Given the description of an element on the screen output the (x, y) to click on. 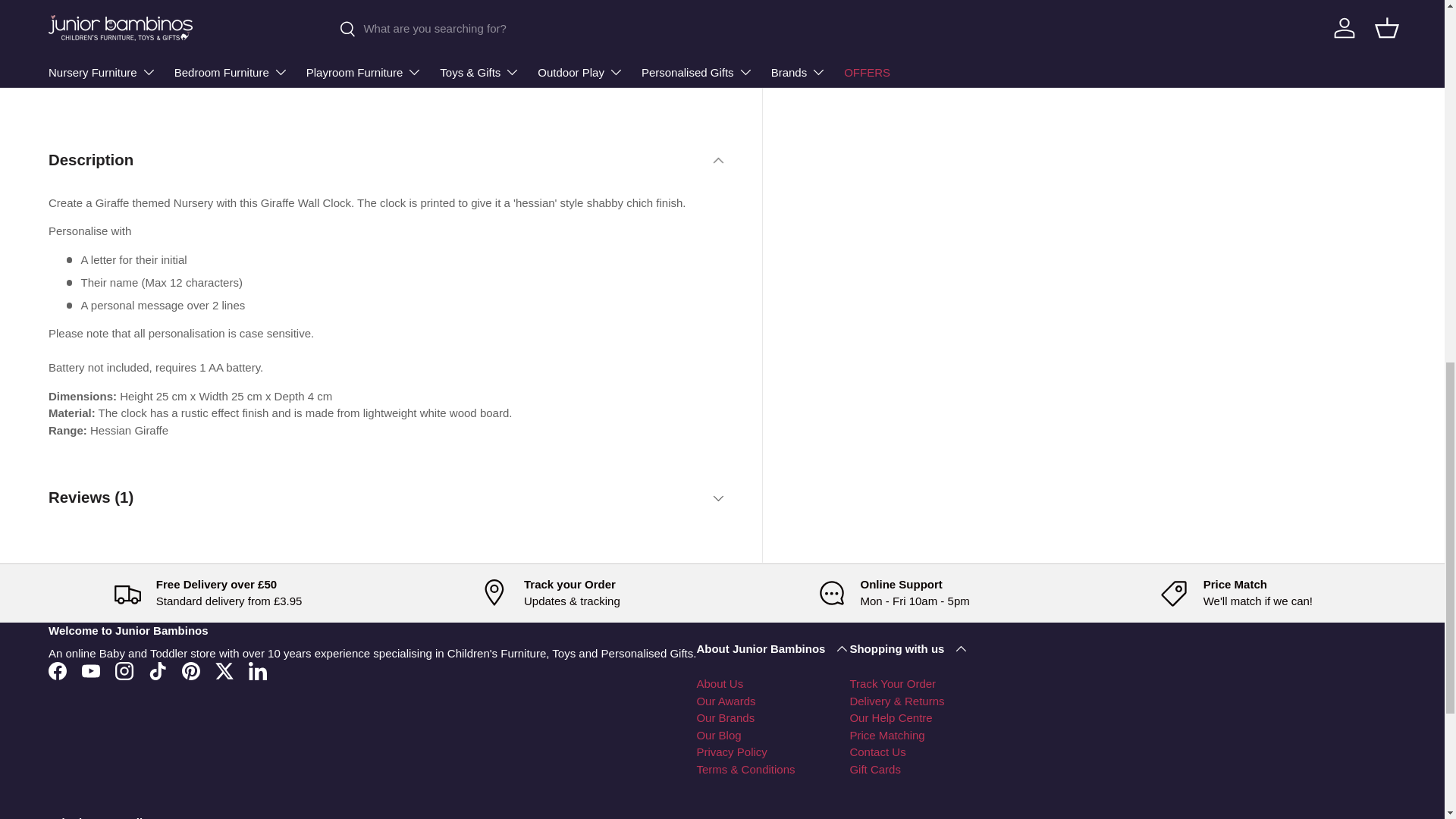
Junior Bambinos on YouTube (90, 670)
Junior Bambinos on Twitter (224, 670)
Junior Bambinos on Instagram (124, 670)
Junior Bambinos on TikTok (157, 670)
Junior Bambinos on LinkedIn (258, 670)
Junior Bambinos on Facebook (57, 670)
Junior Bambinos on Pinterest (191, 670)
